Given the description of an element on the screen output the (x, y) to click on. 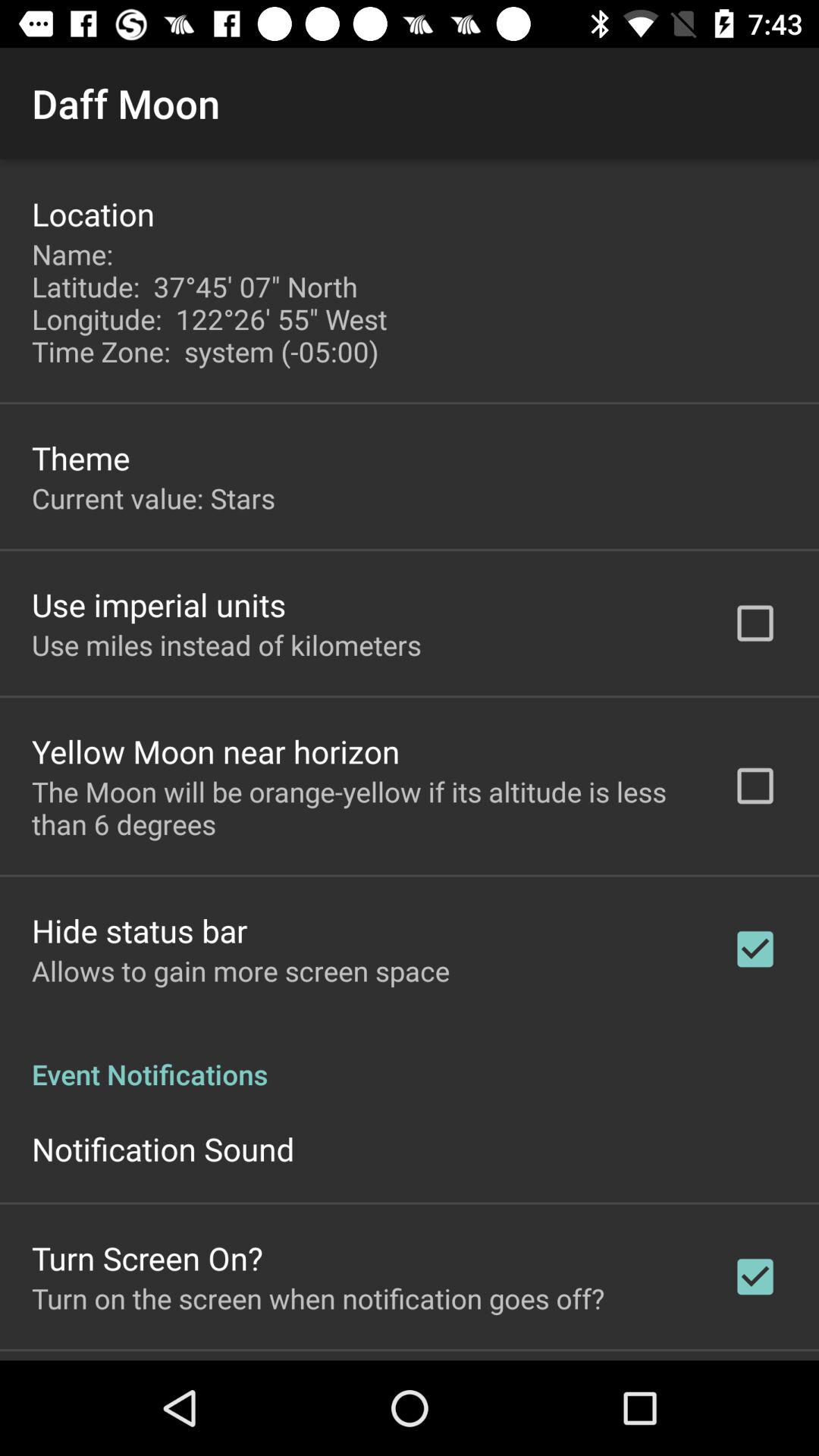
open event notifications app (409, 1058)
